Given the description of an element on the screen output the (x, y) to click on. 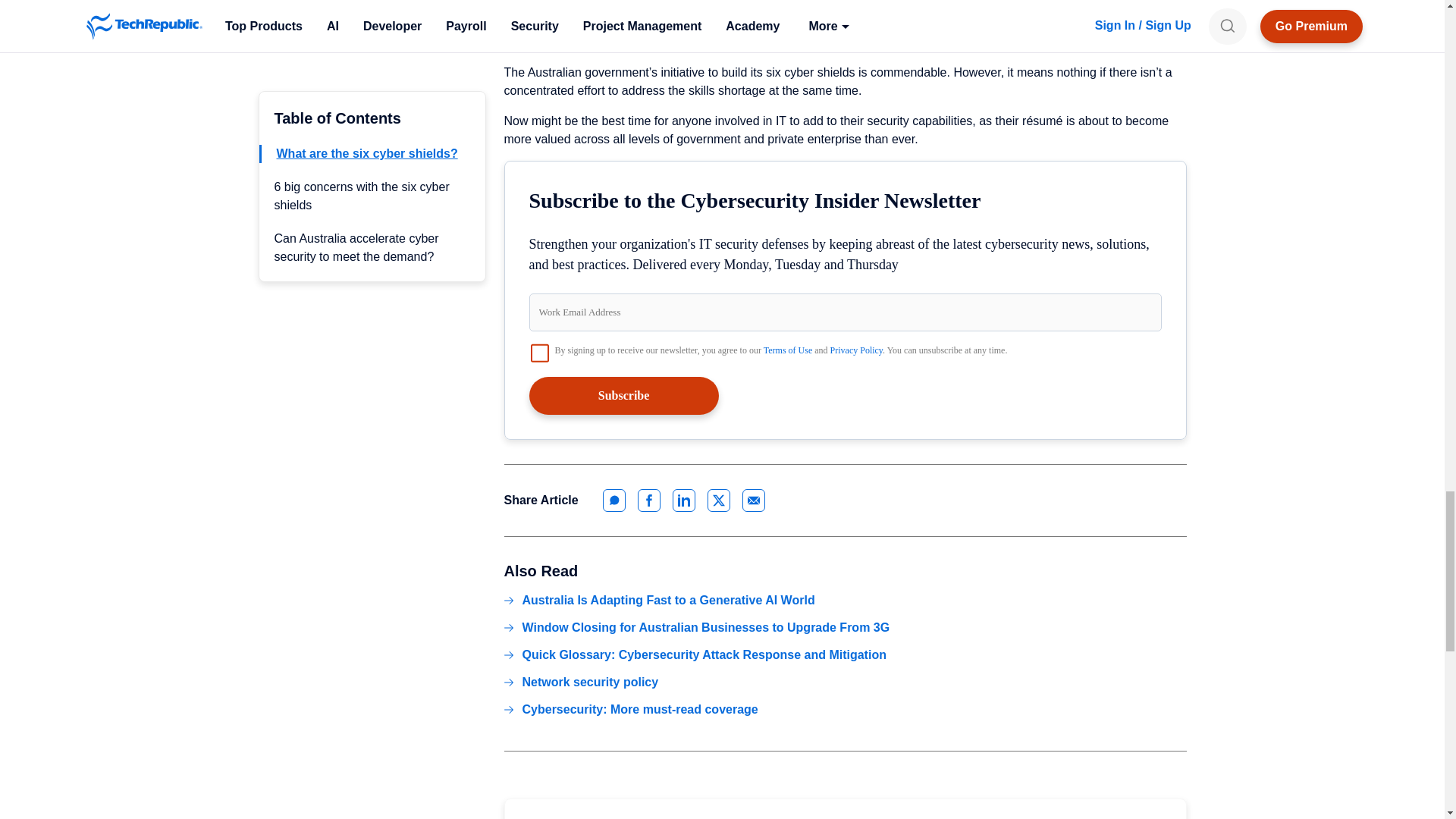
on (539, 352)
